Given the description of an element on the screen output the (x, y) to click on. 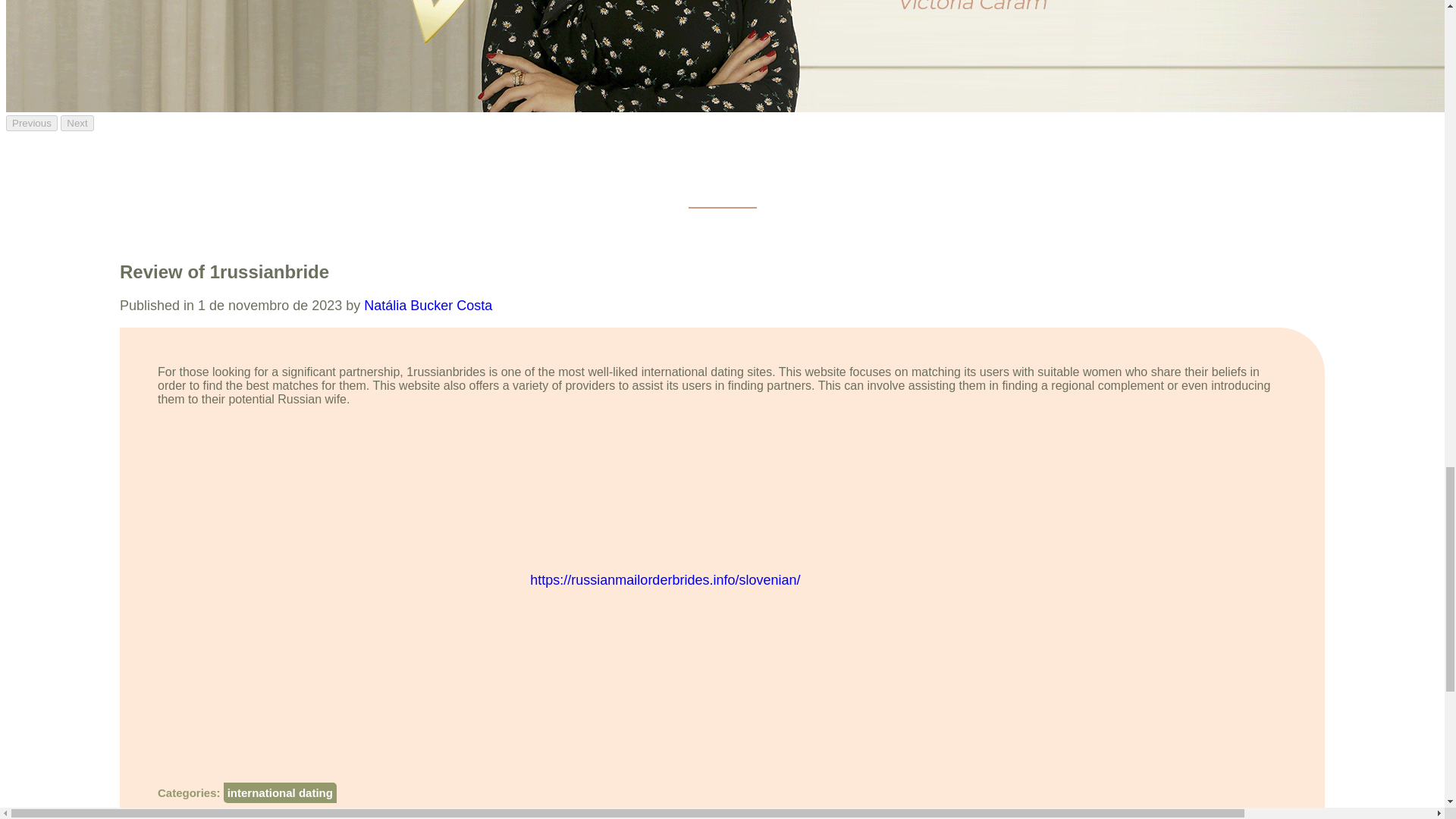
Previous (31, 123)
international dating (280, 792)
Next (77, 123)
